Given the description of an element on the screen output the (x, y) to click on. 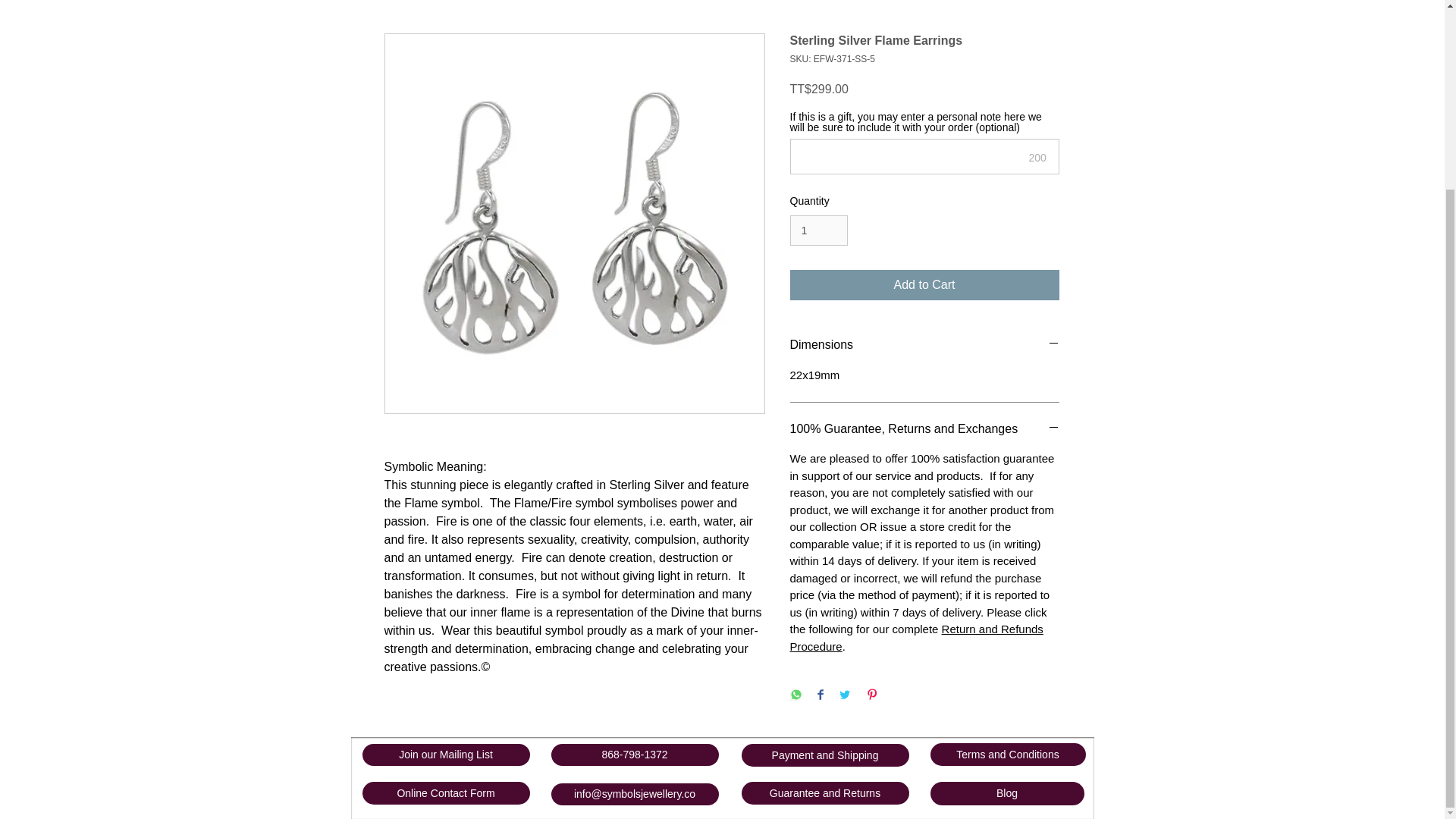
1 (818, 230)
